Given the description of an element on the screen output the (x, y) to click on. 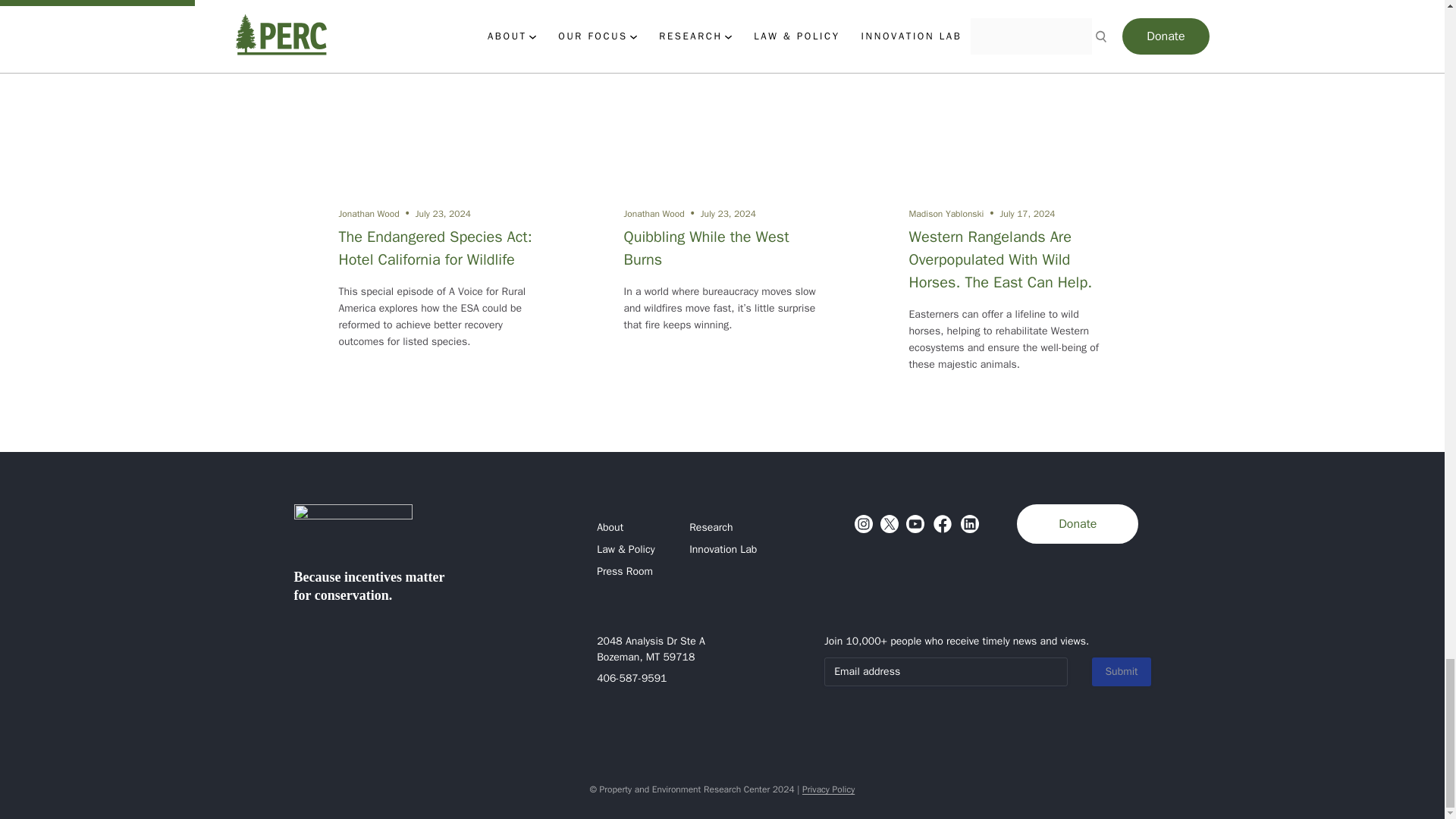
Submit (1121, 671)
